Given the description of an element on the screen output the (x, y) to click on. 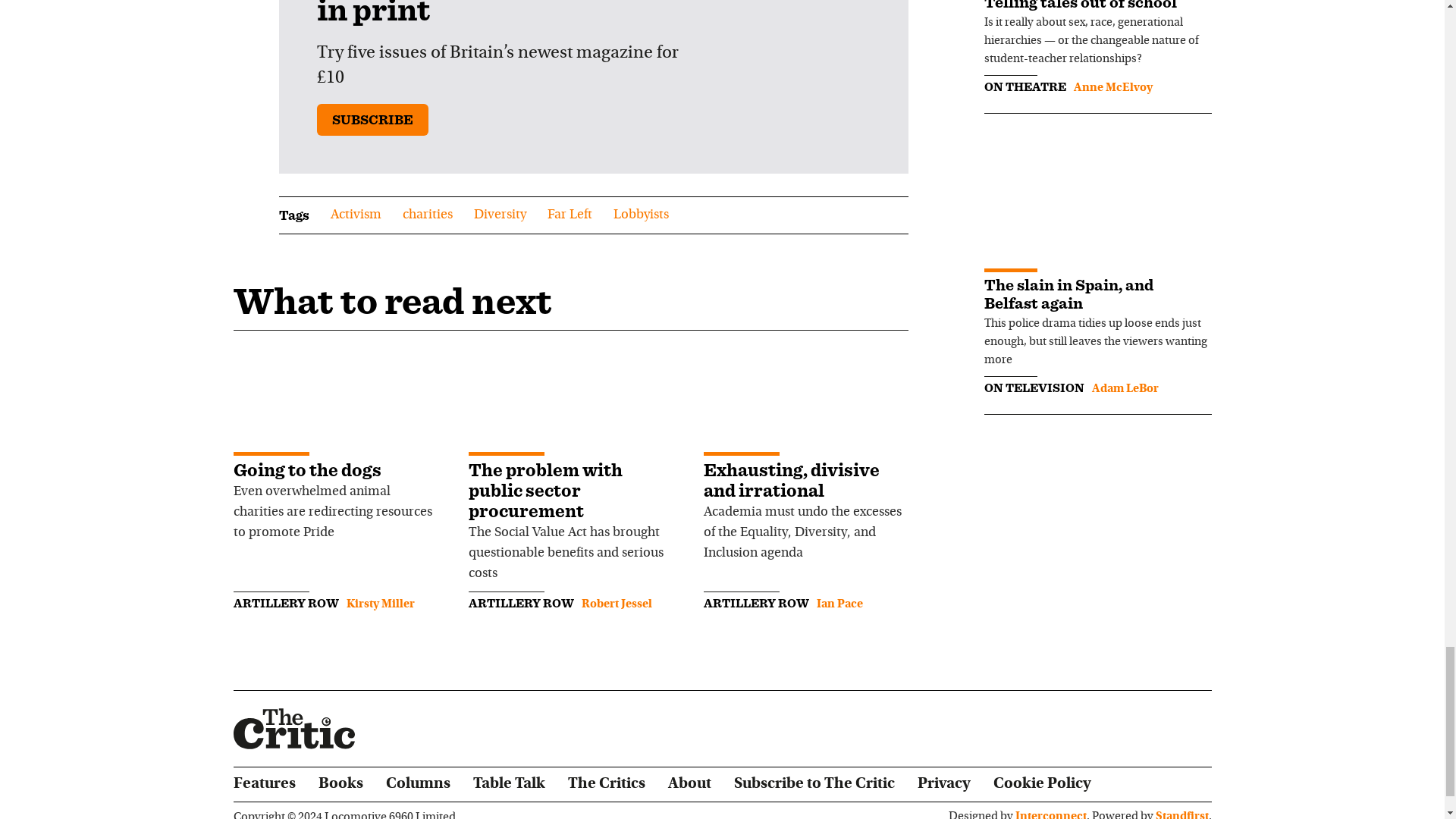
Posts by Anne McElvoy (1113, 87)
Posts by Robert Jessel (615, 604)
Posts by Kirsty Miller (379, 604)
Posts by Adam LeBor (1125, 388)
Posts by Ian Pace (838, 604)
